Given the description of an element on the screen output the (x, y) to click on. 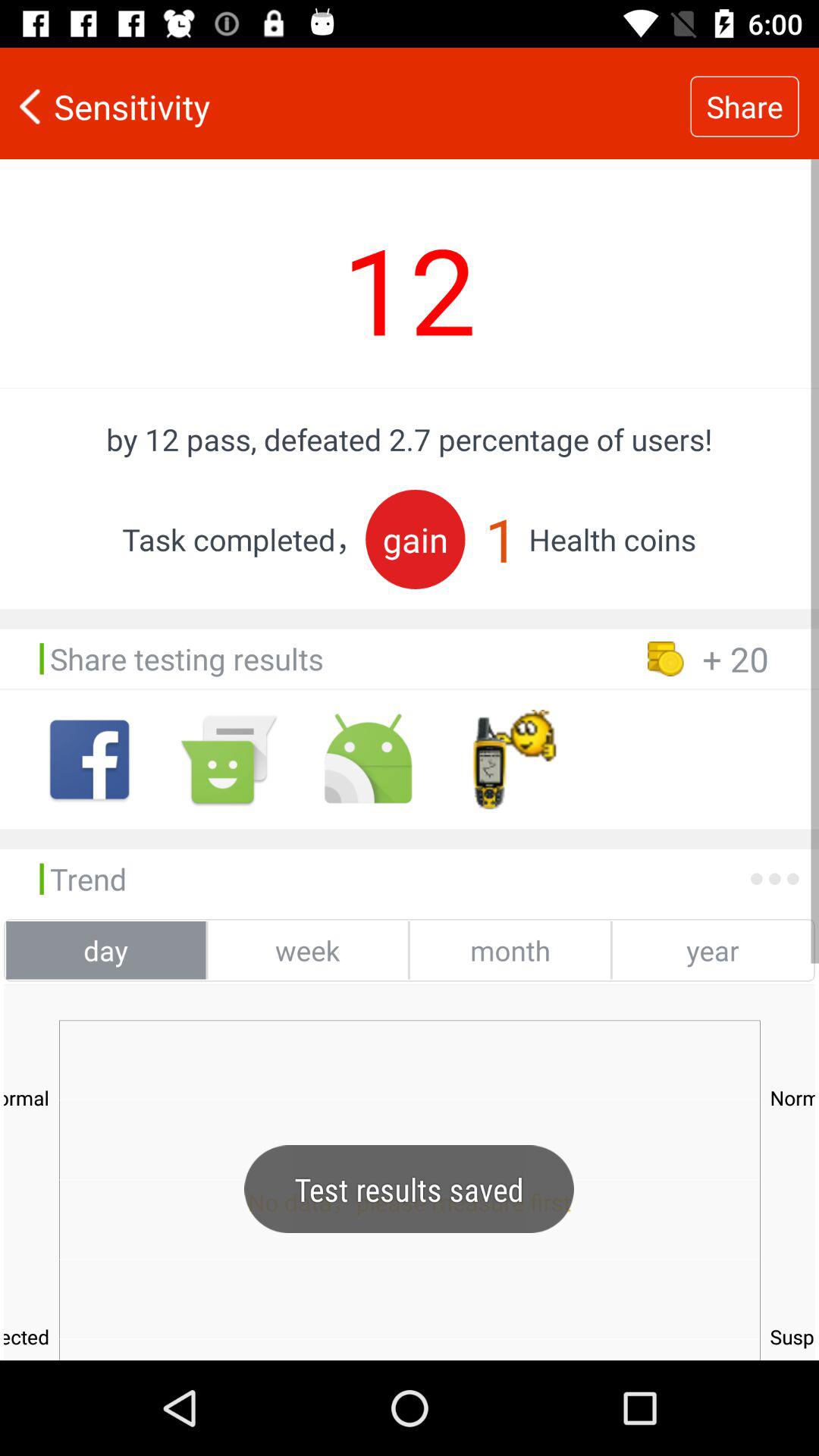
click to facebook (89, 759)
